Given the description of an element on the screen output the (x, y) to click on. 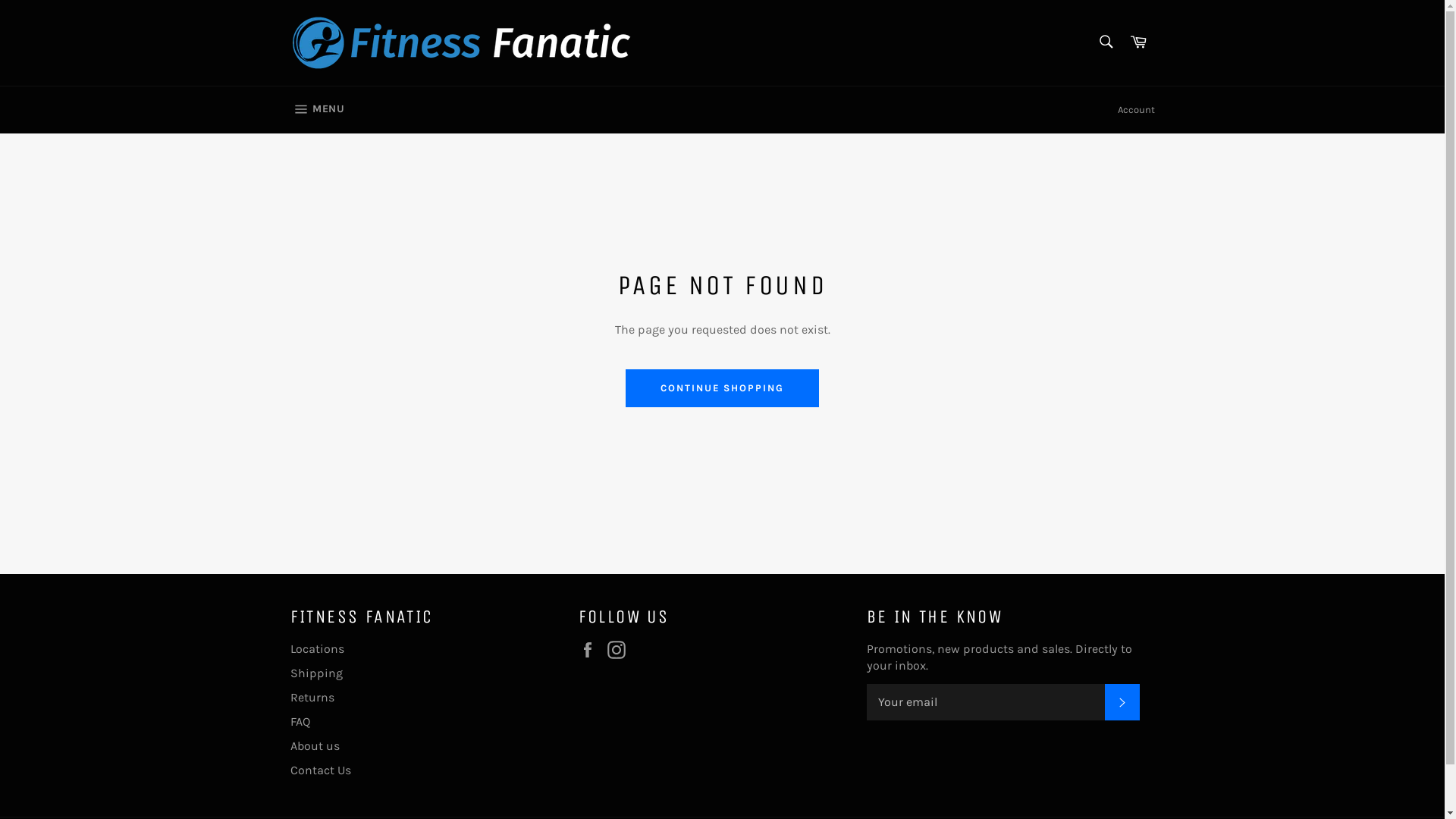
Instagram Element type: text (619, 649)
Locations Element type: text (316, 648)
Search Element type: text (1105, 41)
SUBSCRIBE Element type: text (1121, 702)
Contact Us Element type: text (319, 769)
Cart Element type: text (1138, 42)
MENU
SITE NAVIGATION Element type: text (316, 109)
Shipping Element type: text (315, 672)
Returns Element type: text (311, 697)
Account Element type: text (1136, 109)
CONTINUE SHOPPING Element type: text (722, 388)
About us Element type: text (313, 745)
FAQ Element type: text (299, 721)
Facebook Element type: text (590, 649)
